Given the description of an element on the screen output the (x, y) to click on. 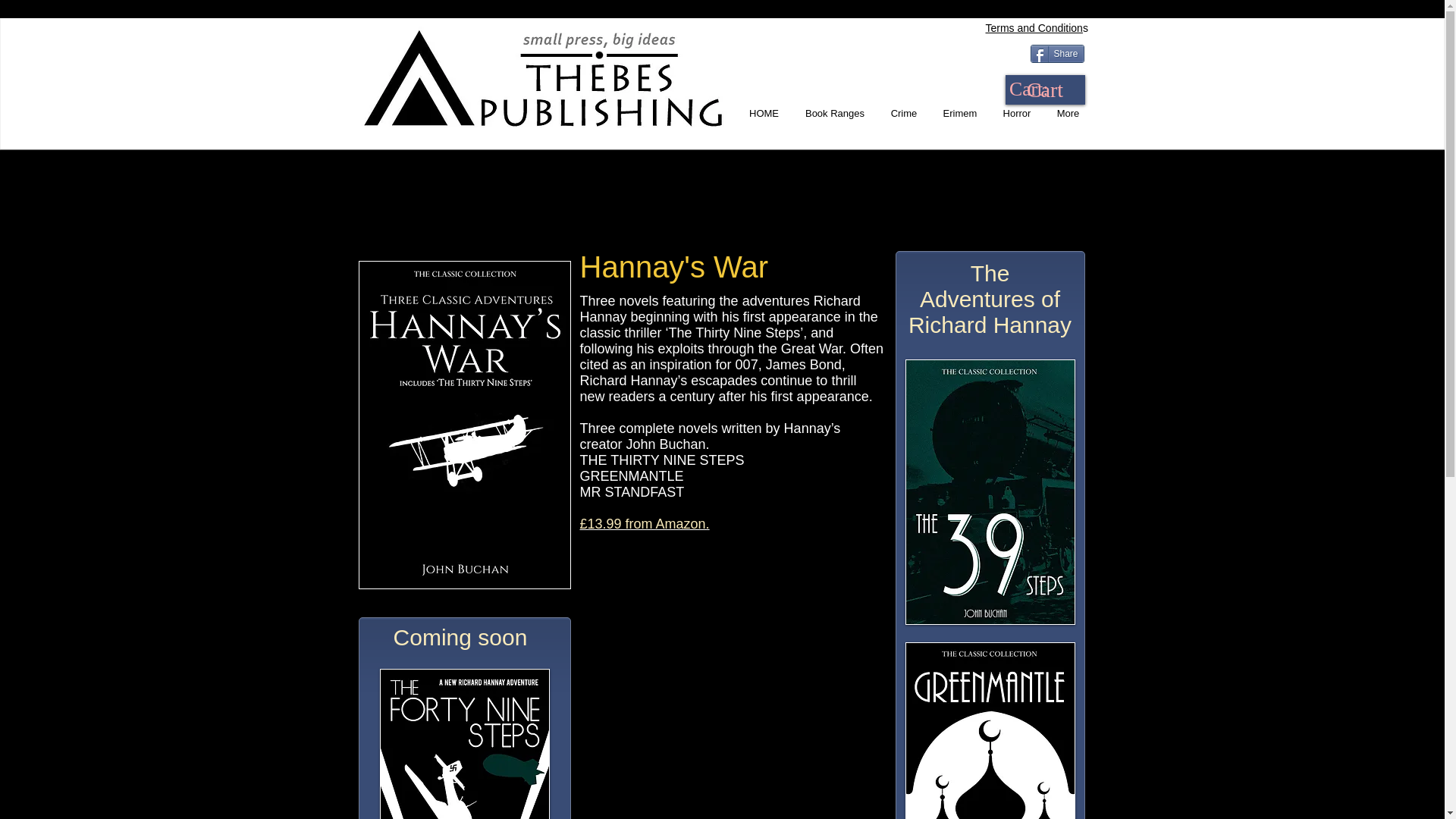
Share (1056, 54)
Crime (903, 113)
Cart (1045, 89)
Erimem (960, 113)
Thebes copy SHAPE 2.jpg (543, 76)
Hannay's War.jpg (464, 424)
Cart: (1043, 87)
Horror (1016, 113)
HOME (763, 113)
Cart: (1043, 87)
Greenmantle.jpg (990, 730)
The 39 Steps.jpg (990, 491)
Book Ranges (834, 113)
Terms and Condition (1034, 28)
Share (1056, 54)
